Given the description of an element on the screen output the (x, y) to click on. 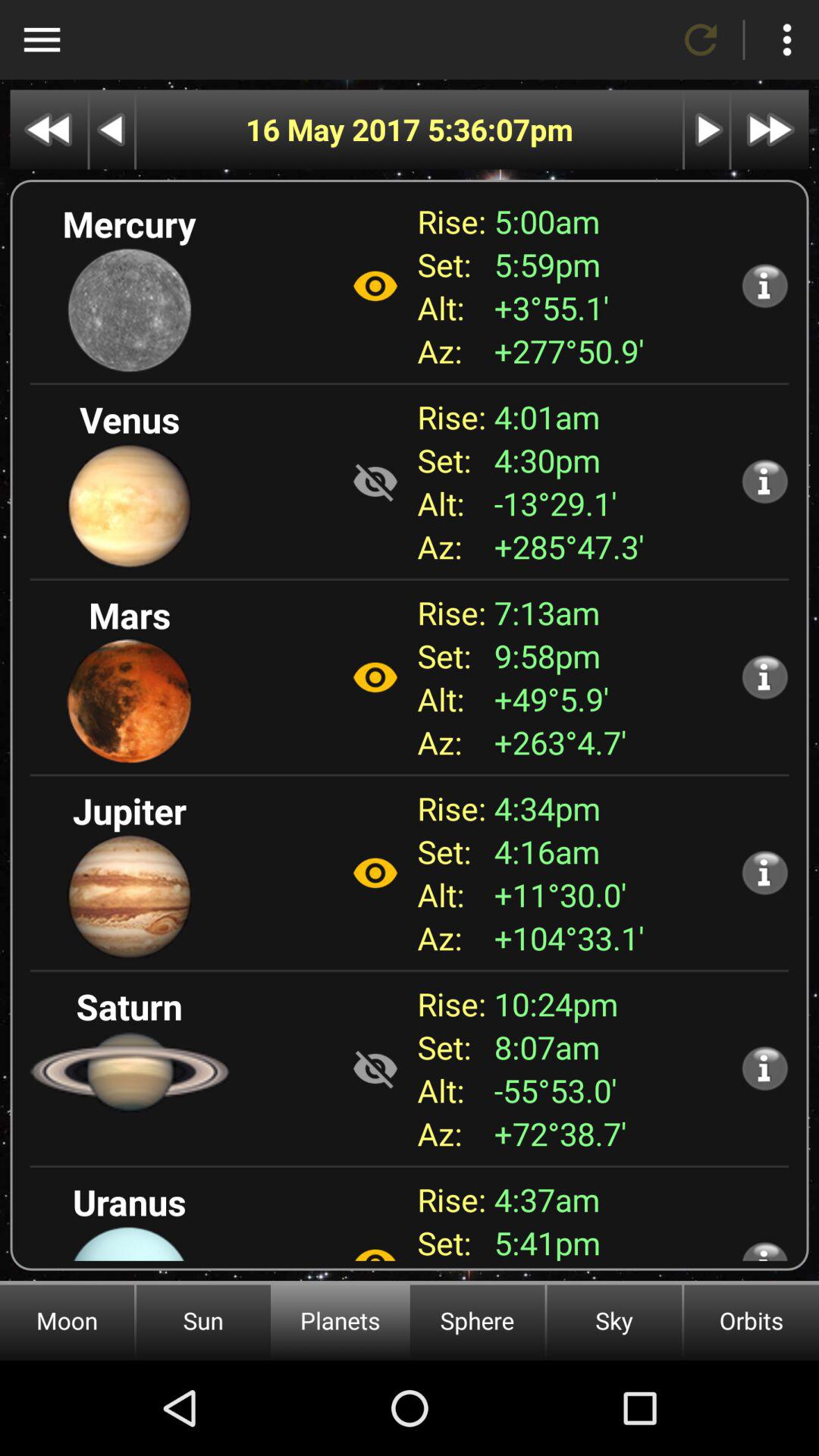
next (769, 129)
